Given the description of an element on the screen output the (x, y) to click on. 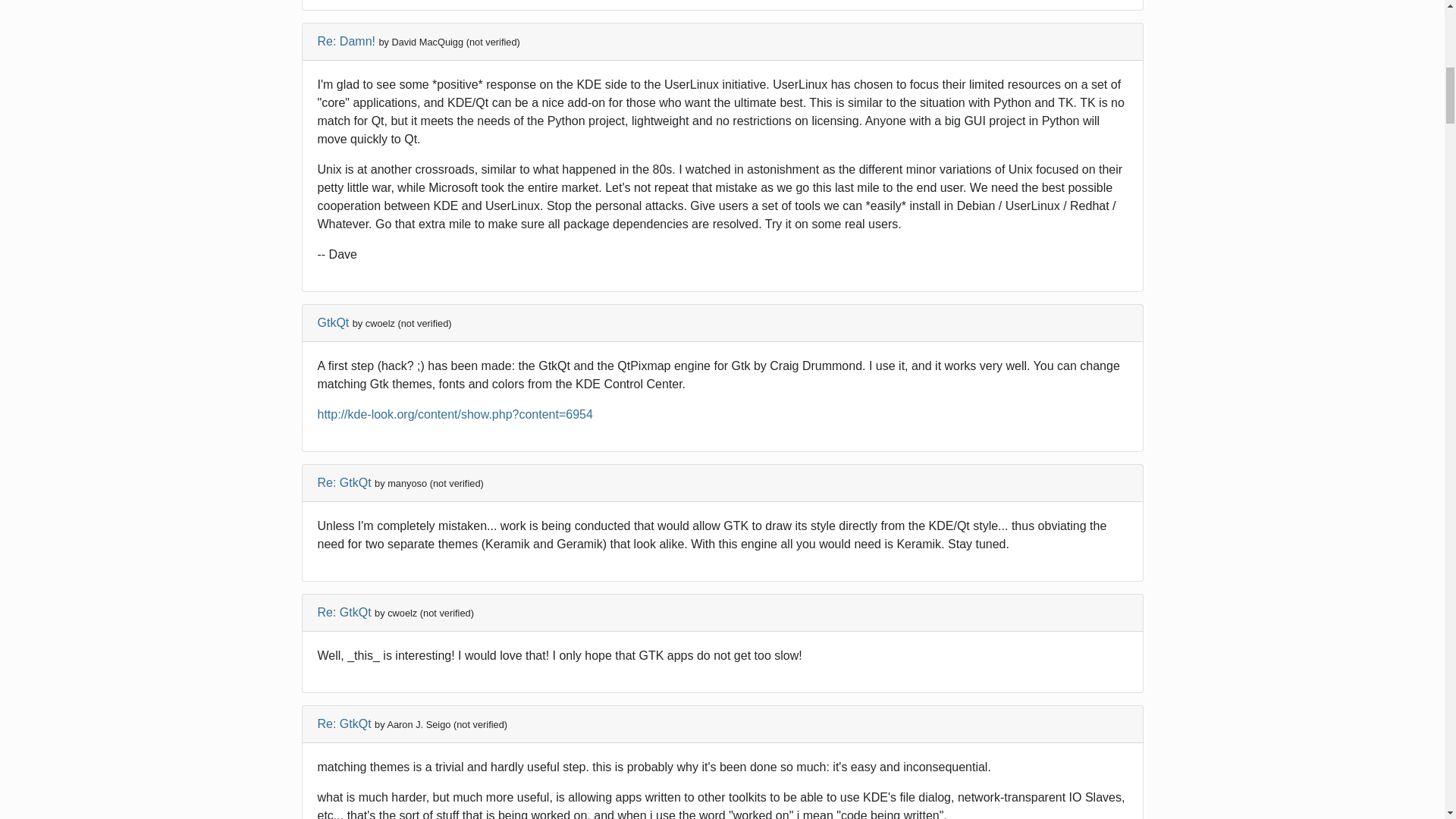
Re: GtkQt (344, 612)
Re: GtkQt (344, 481)
GtkQt (333, 322)
Re: GtkQt (344, 723)
Re: Damn! (345, 41)
